Given the description of an element on the screen output the (x, y) to click on. 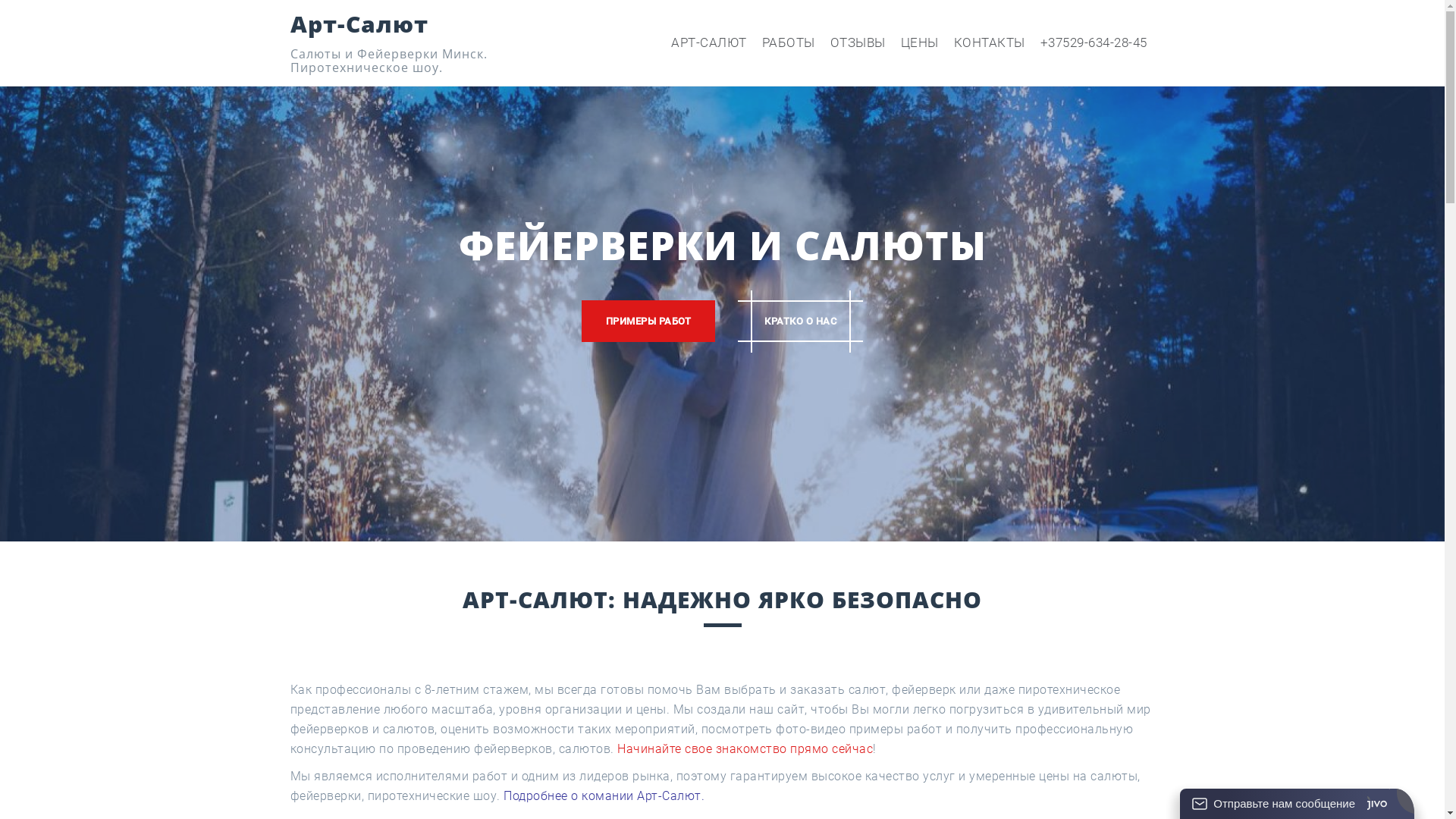
Skip to content Element type: text (0, 0)
+37529-634-28-45 Element type: text (1093, 42)
